Given the description of an element on the screen output the (x, y) to click on. 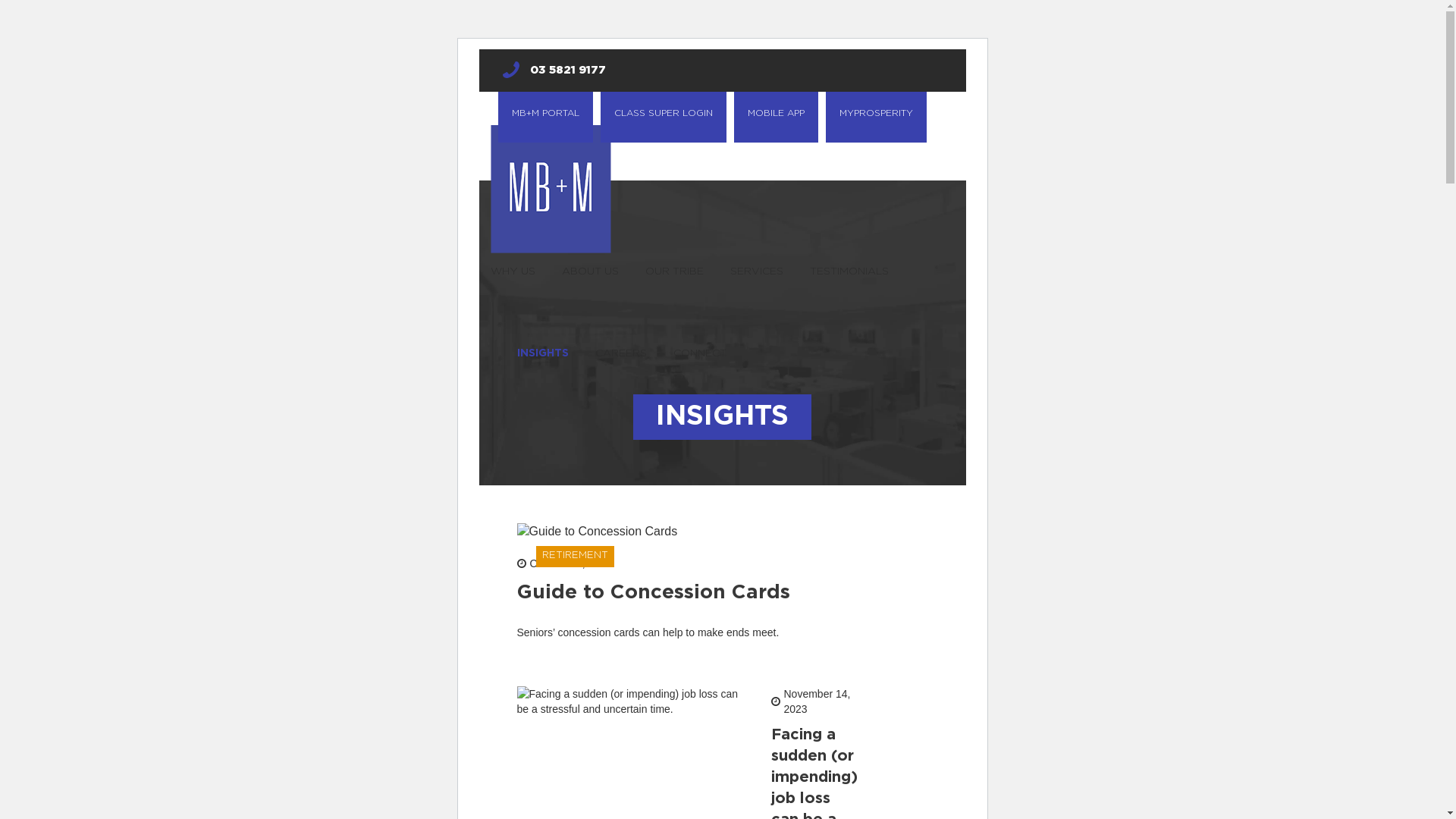
03 5821 9177 Element type: text (553, 70)
CONNECT Element type: text (699, 353)
CAREERS Element type: text (620, 353)
OUR TRIBE Element type: text (673, 271)
INSIGHTS Element type: text (542, 353)
TESTIMONIALS Element type: text (848, 271)
Guide to Concession Cards Element type: text (653, 592)
ABOUT US Element type: text (589, 271)
MYPROSPERITY Element type: text (875, 116)
SERVICES Element type: text (755, 271)
MOBILE APP Element type: text (776, 116)
MB+M PORTAL Element type: text (544, 116)
WHY US Element type: text (511, 271)
CLASS SUPER LOGIN Element type: text (663, 116)
